Given the description of an element on the screen output the (x, y) to click on. 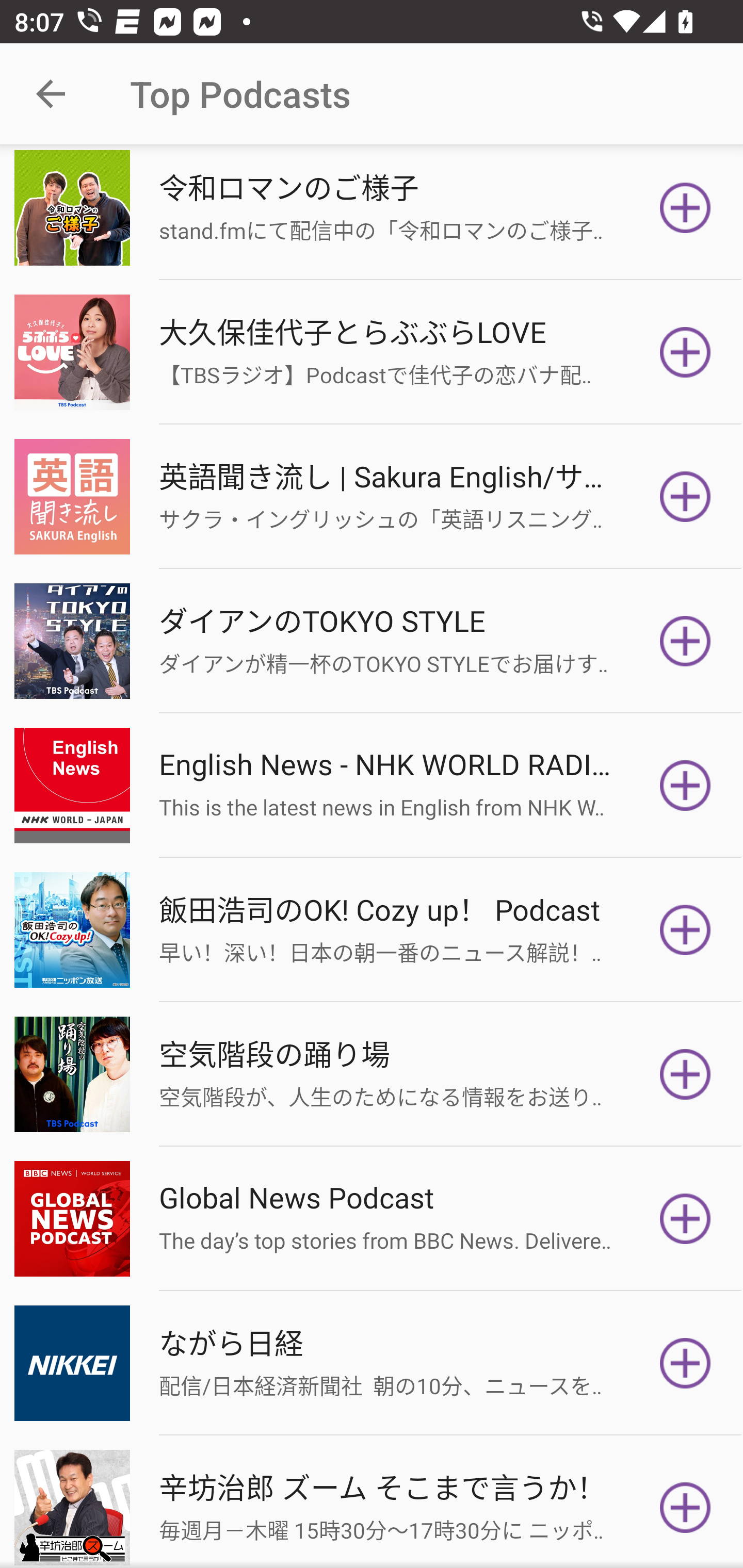
Navigate up (50, 93)
Subscribe (685, 207)
Subscribe (685, 352)
Subscribe (685, 497)
Subscribe (685, 641)
Subscribe (685, 785)
Subscribe (685, 929)
Subscribe (685, 1074)
Subscribe (685, 1218)
Subscribe (685, 1363)
Subscribe (685, 1507)
